Given the description of an element on the screen output the (x, y) to click on. 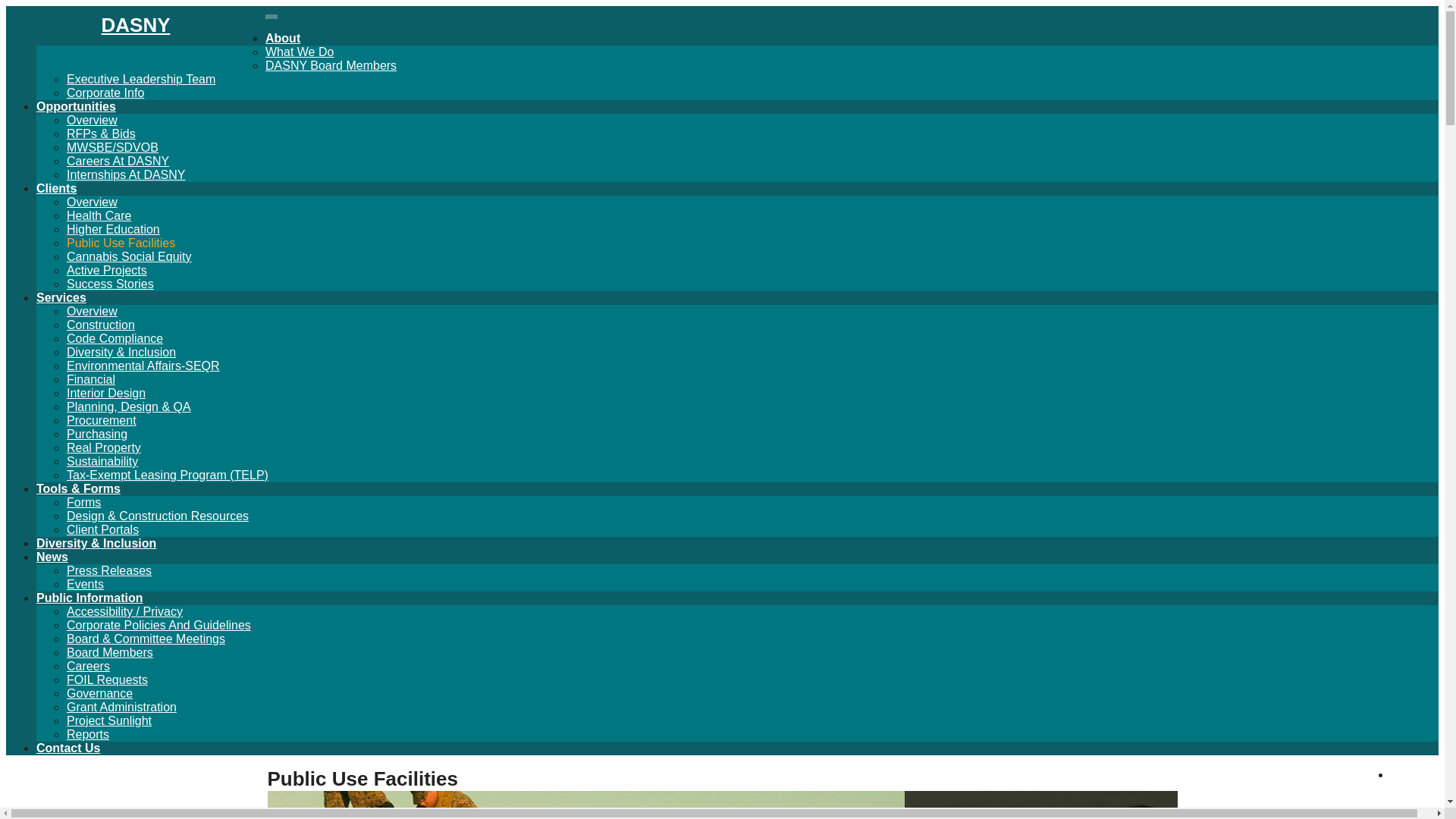
Careers At DASNY (117, 160)
Forms (83, 502)
Executive Leadership Team (140, 78)
Overview (91, 201)
DASNY (134, 35)
Cannabis Social Equity (129, 256)
Corporate Info (105, 92)
Home (134, 35)
Environmental Affairs-SEQR (142, 365)
Services (60, 297)
Real Property (103, 447)
What We Do (298, 51)
Overview (91, 119)
Active Projects (106, 269)
Client Portals (102, 529)
